Given the description of an element on the screen output the (x, y) to click on. 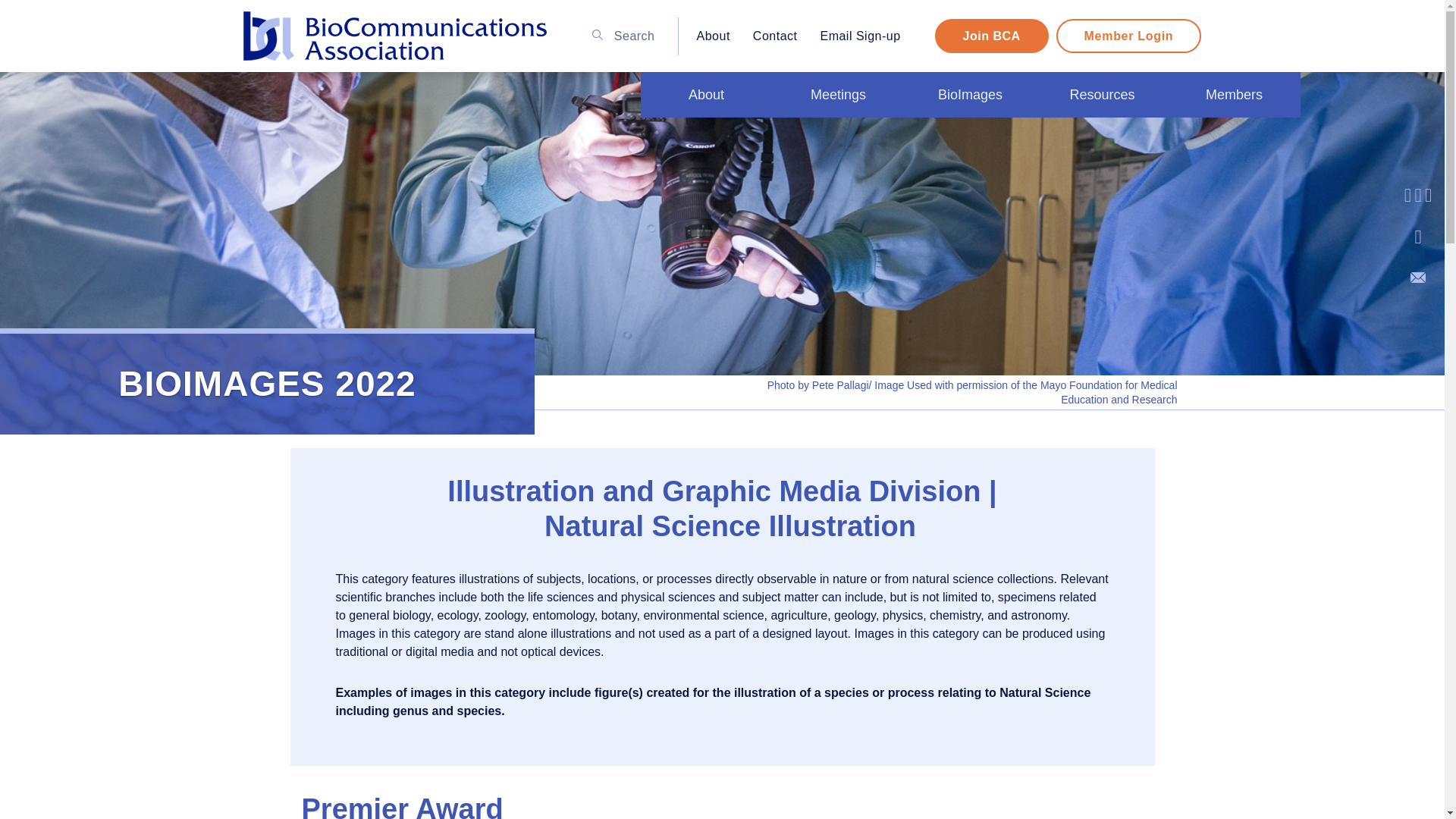
Leadership (761, 132)
Speakers (1037, 132)
Email Sign-up (859, 35)
Conference Overview (1042, 132)
Ralph Creer Service Award (888, 132)
About (705, 94)
Microscopy as a tool for science, art and procrastination (1041, 144)
BIOCOMM at a Glance (1030, 132)
Reserve Accommodations (1023, 132)
Louis Schmidt Award (896, 132)
Previous BIOCOMMS (1020, 132)
Registration (1026, 132)
RBP List (919, 132)
FAQ (756, 132)
Emeritus Membership (891, 132)
